Given the description of an element on the screen output the (x, y) to click on. 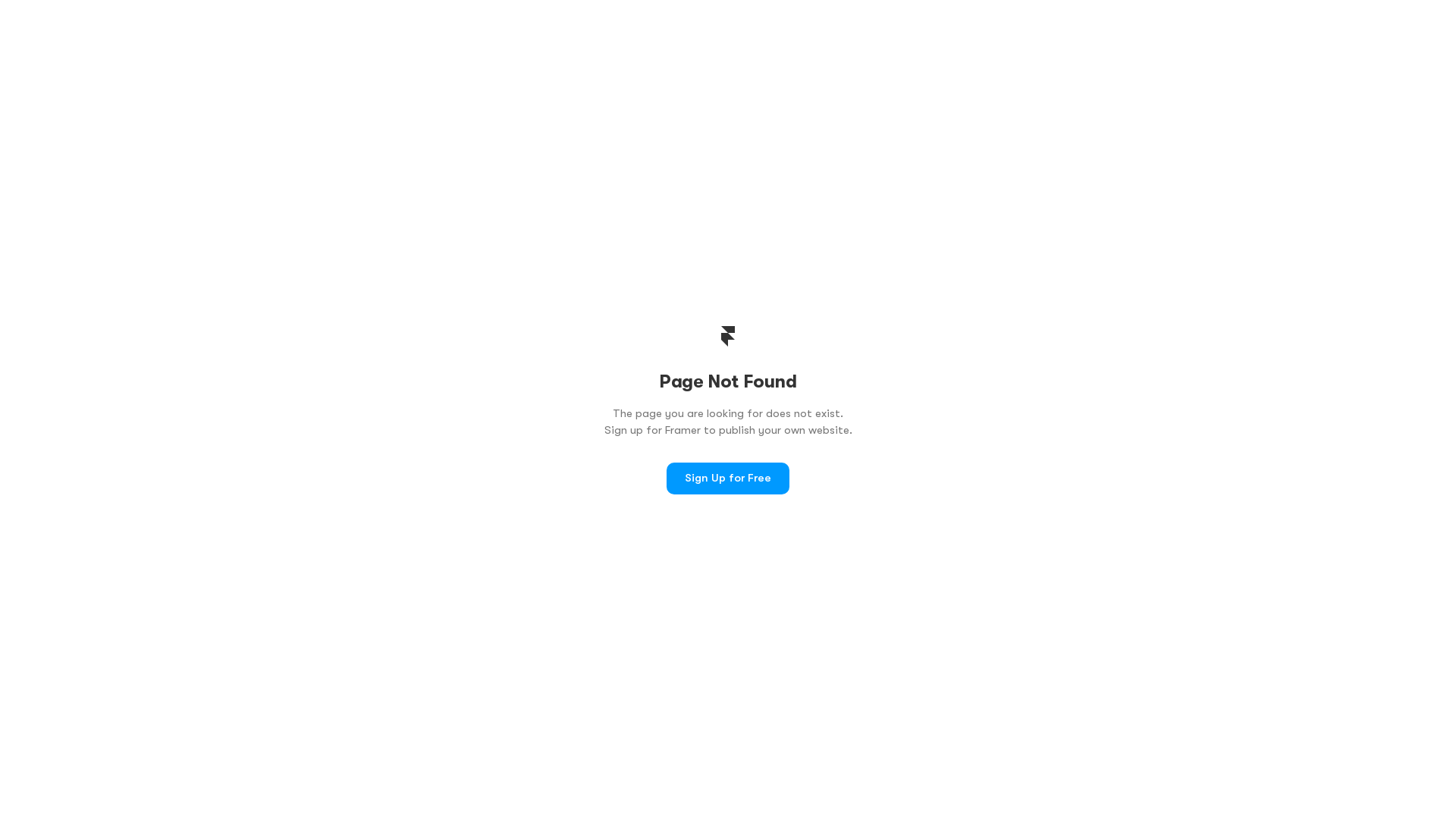
Sign Up for Free Element type: text (727, 478)
